Given the description of an element on the screen output the (x, y) to click on. 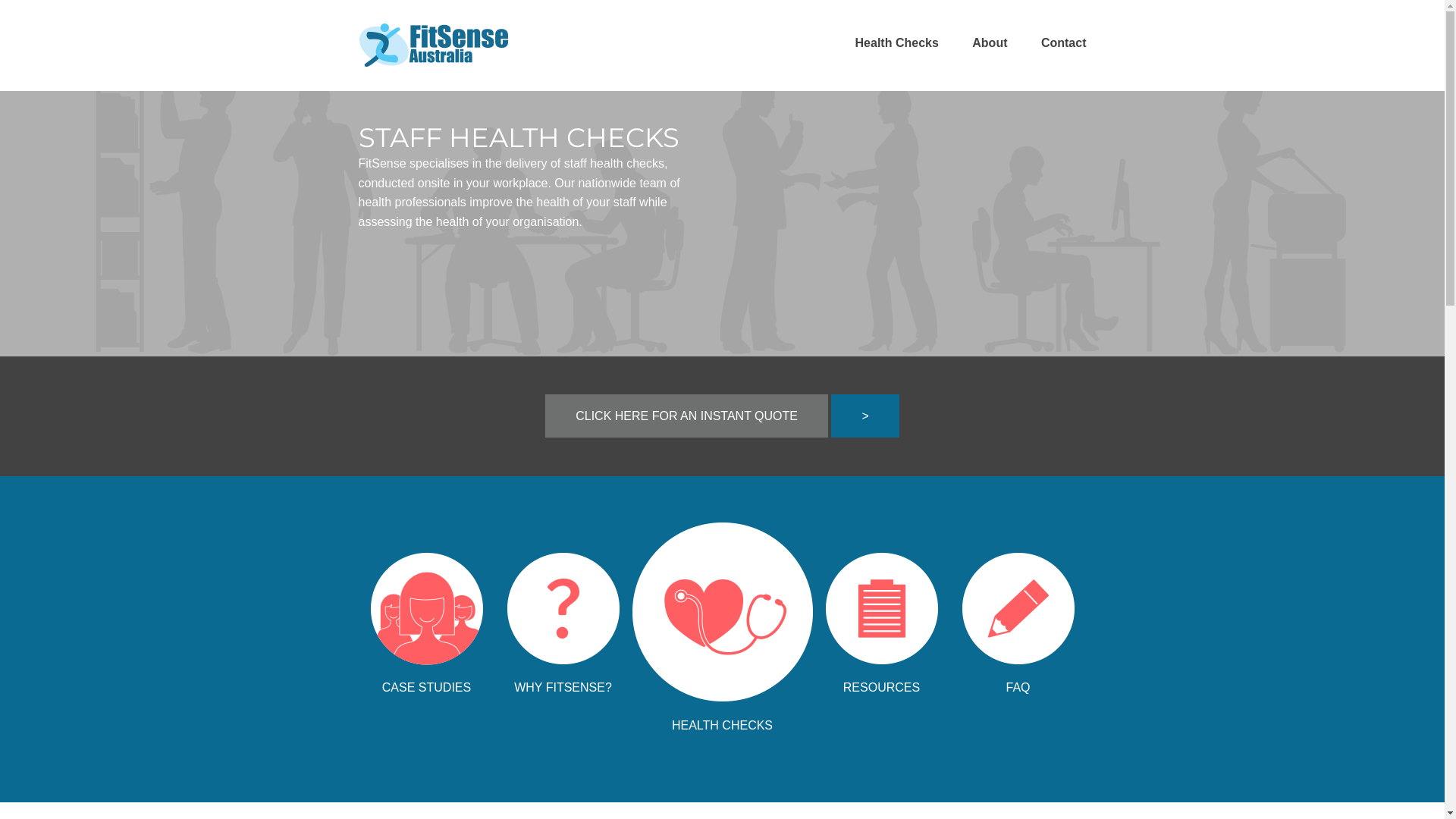
CASE STUDIES Element type: text (425, 614)
About Element type: text (989, 42)
FAQ Element type: text (1017, 614)
Contact Element type: text (1063, 42)
Health Checks Element type: text (896, 42)
RESOURCES Element type: text (880, 614)
FitSense Home Page Element type: hover (433, 67)
WHY FITSENSE? Element type: text (562, 614)
HEALTH CHECKS Element type: text (721, 618)
CLICK HERE FOR AN INSTANT QUOTE Element type: text (686, 415)
> Element type: text (864, 415)
